Given the description of an element on the screen output the (x, y) to click on. 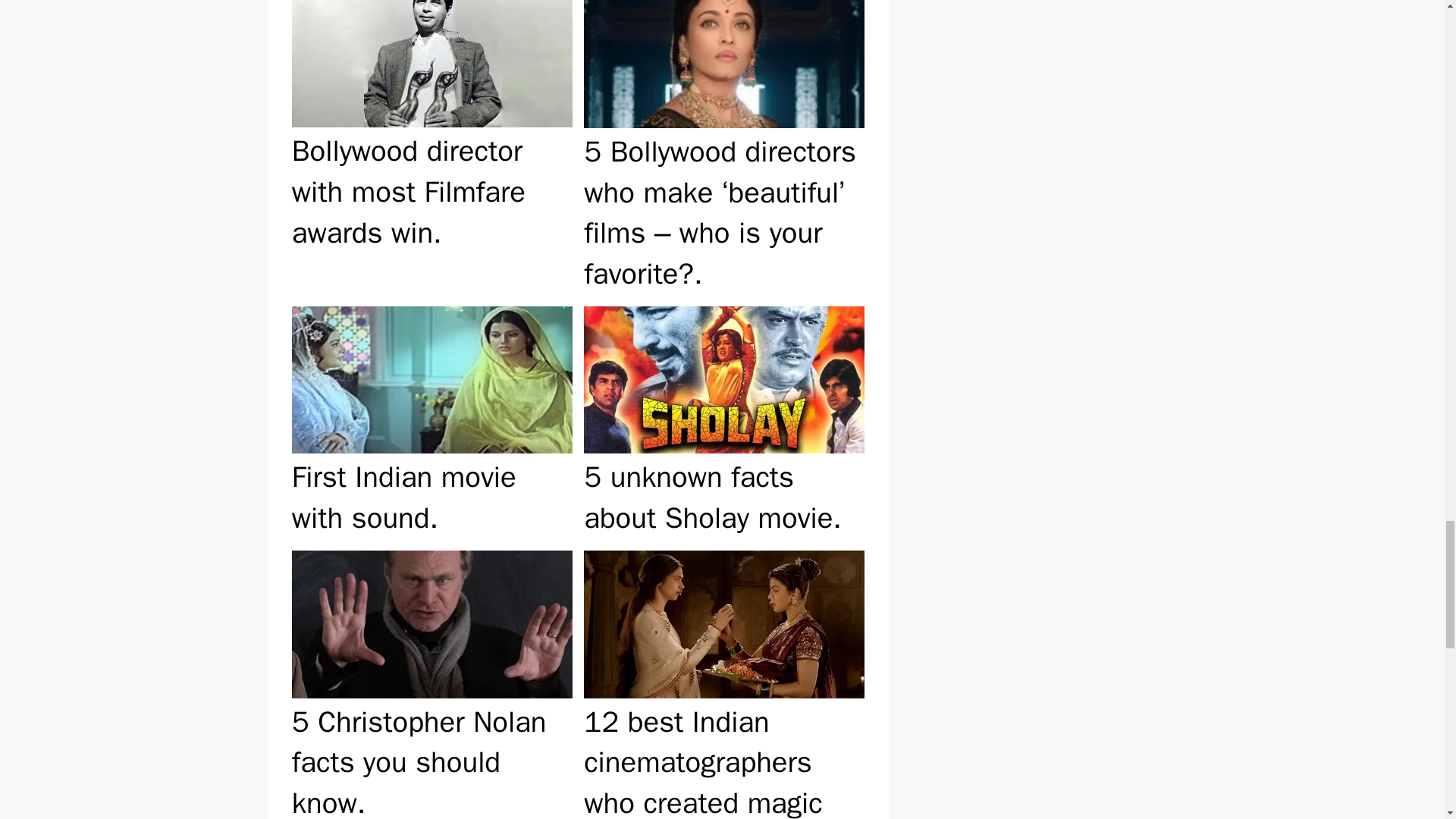
sholay movie facts (723, 379)
alam ara first indian movie with sound (432, 379)
Bollywood director with most Filmfare awards win. (431, 150)
First Indian movie with sound. (431, 422)
best Indian cinematographer films (723, 623)
First Indian movie with sound. (431, 422)
5 unknown facts about Sholay movie. (723, 422)
Bollywood director with most Filmfare awards win. (431, 150)
I1sAzcm (723, 63)
5 Christopher Nolan facts you should know. (431, 682)
5 Christopher Nolan facts you should know. (431, 682)
bimal roy most filmfare award winner director (432, 63)
christopher nolan facts (432, 623)
